Given the description of an element on the screen output the (x, y) to click on. 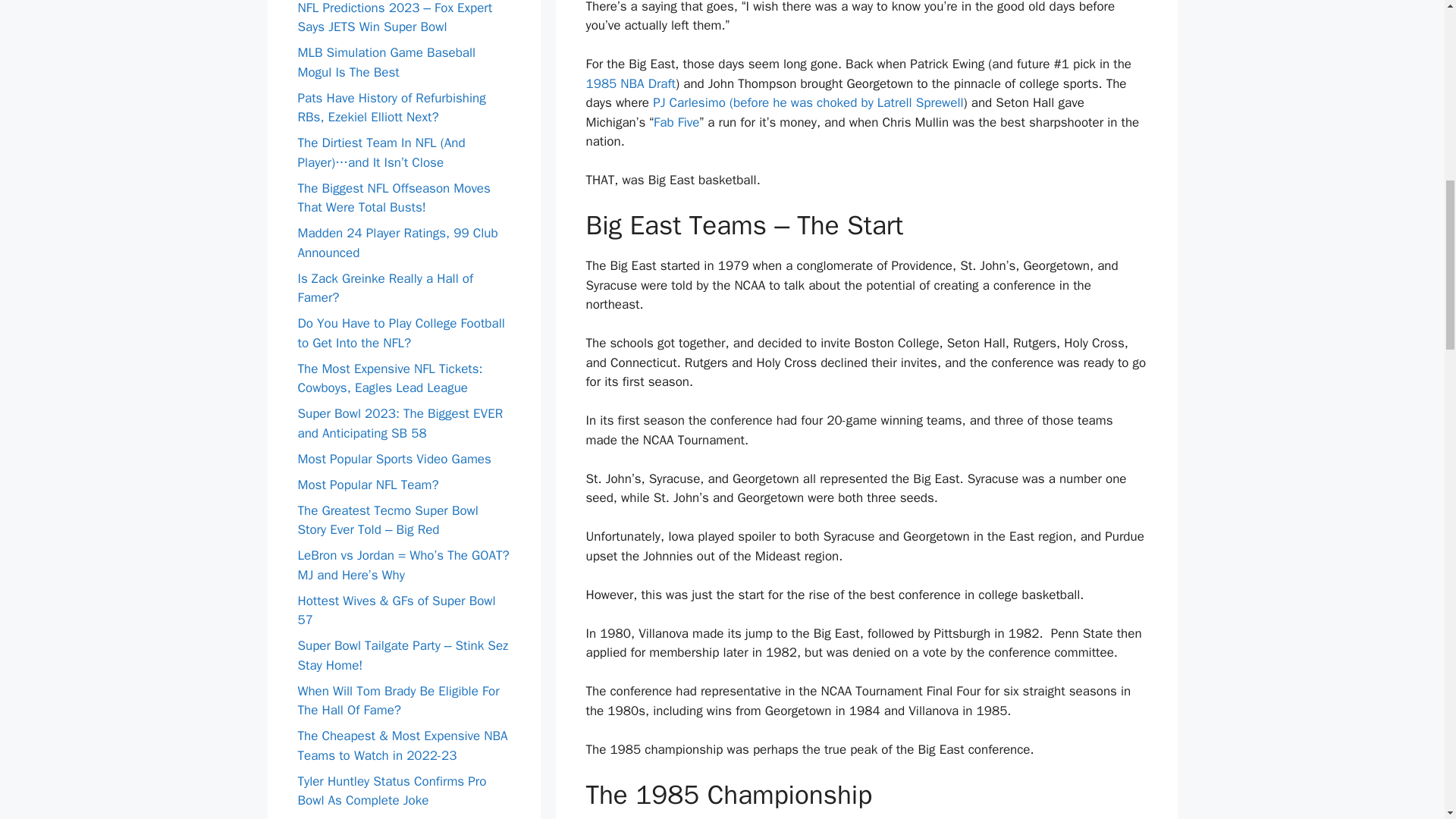
Fab Five (675, 122)
1985 NBA Draft (630, 83)
